Given the description of an element on the screen output the (x, y) to click on. 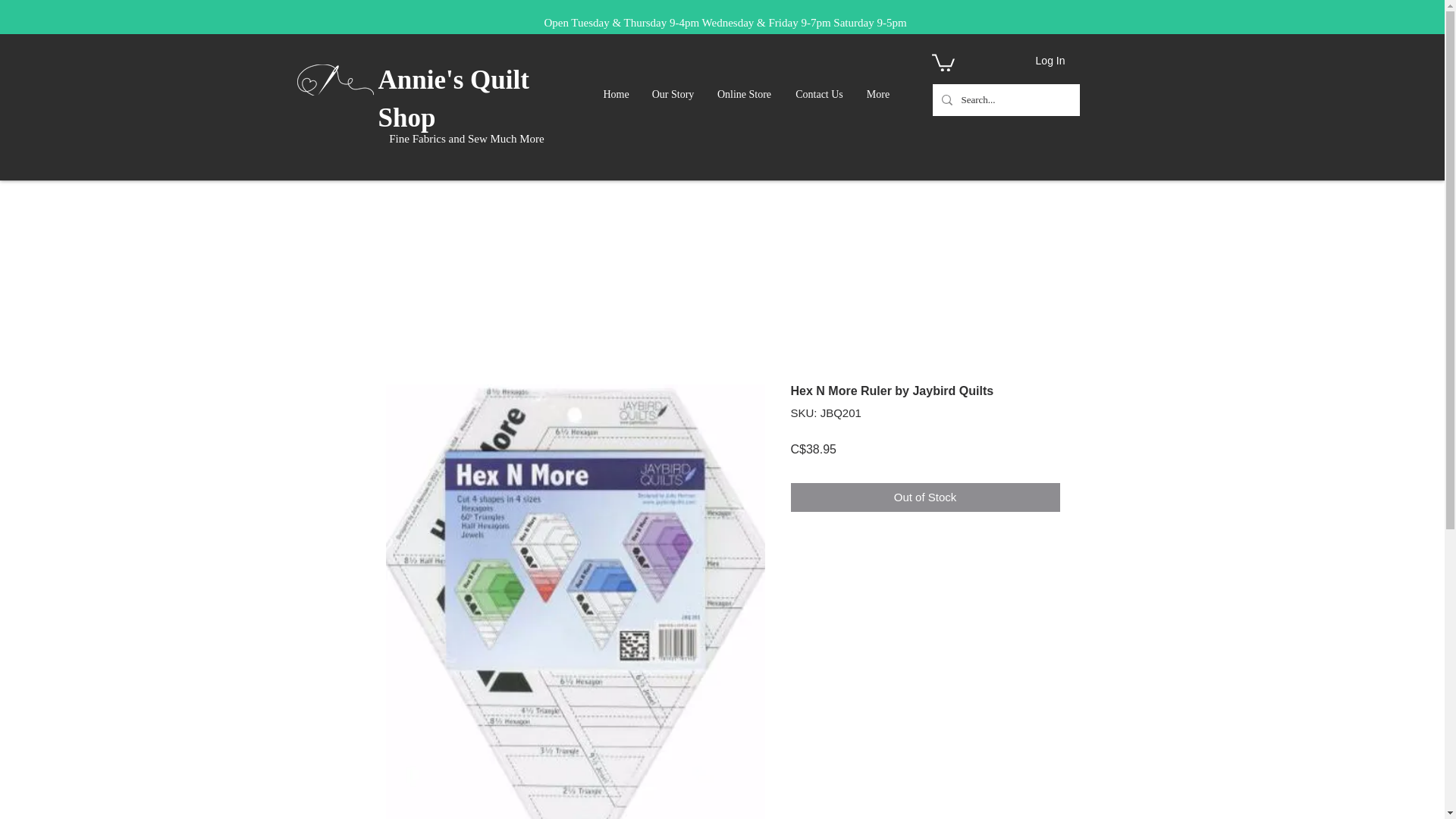
Annie's Quilt Shop (452, 98)
Fine Fabrics and Sew Much More (466, 138)
Our Story (674, 94)
Online Store (745, 94)
Contact Us (819, 94)
Home (615, 94)
